Given the description of an element on the screen output the (x, y) to click on. 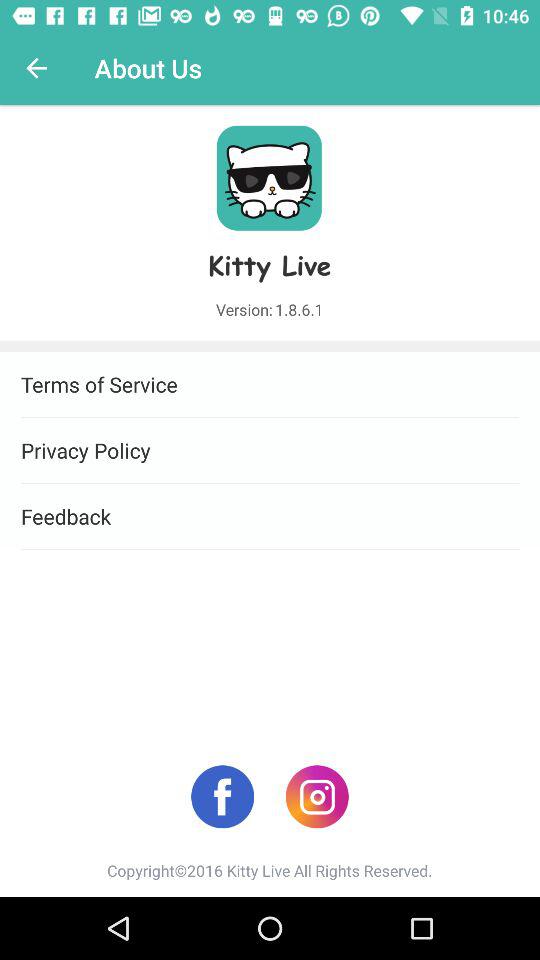
view on facebook (222, 796)
